Given the description of an element on the screen output the (x, y) to click on. 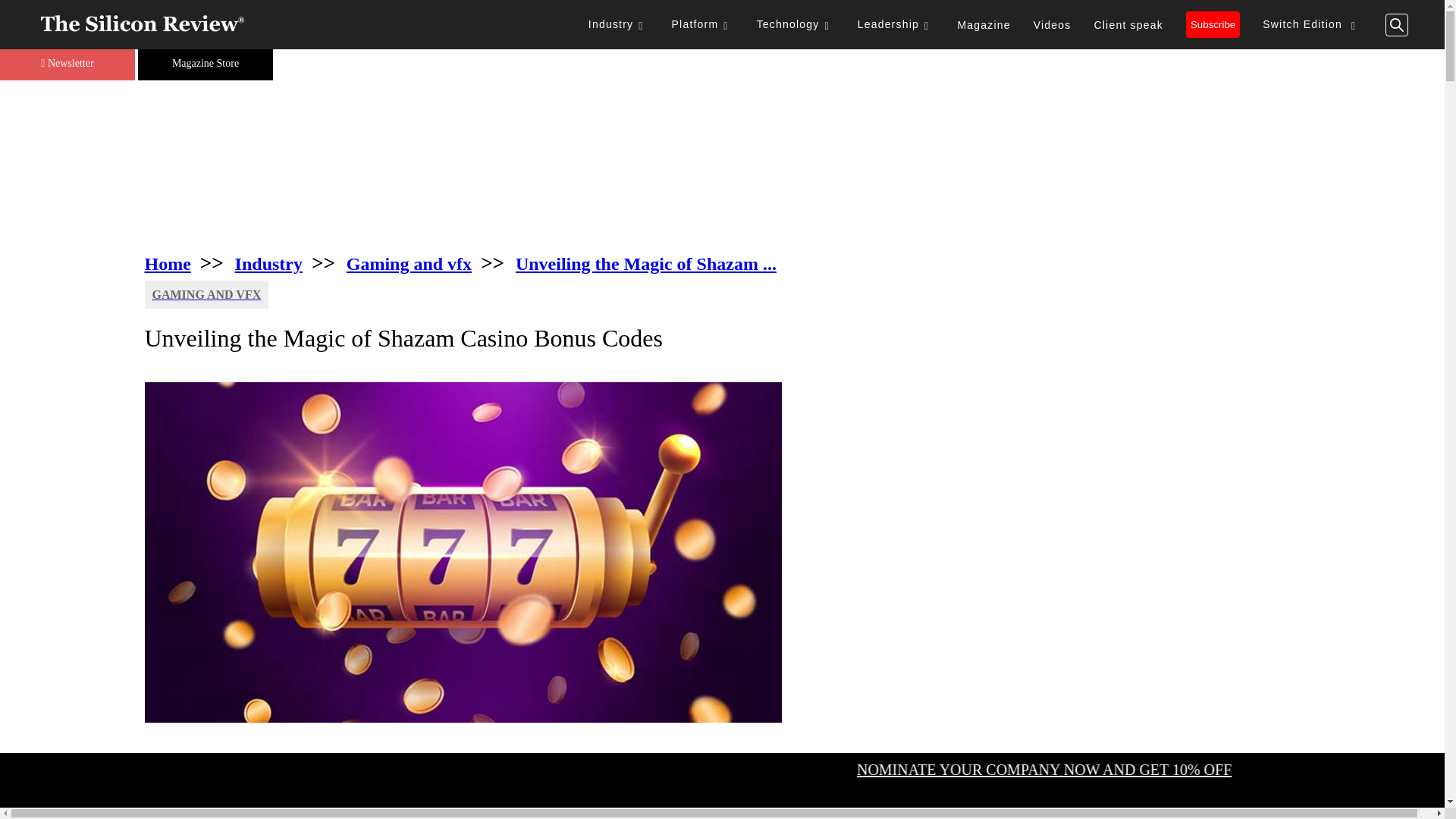
Platform (703, 24)
Industry (618, 24)
Advertisement (722, 165)
